Given the description of an element on the screen output the (x, y) to click on. 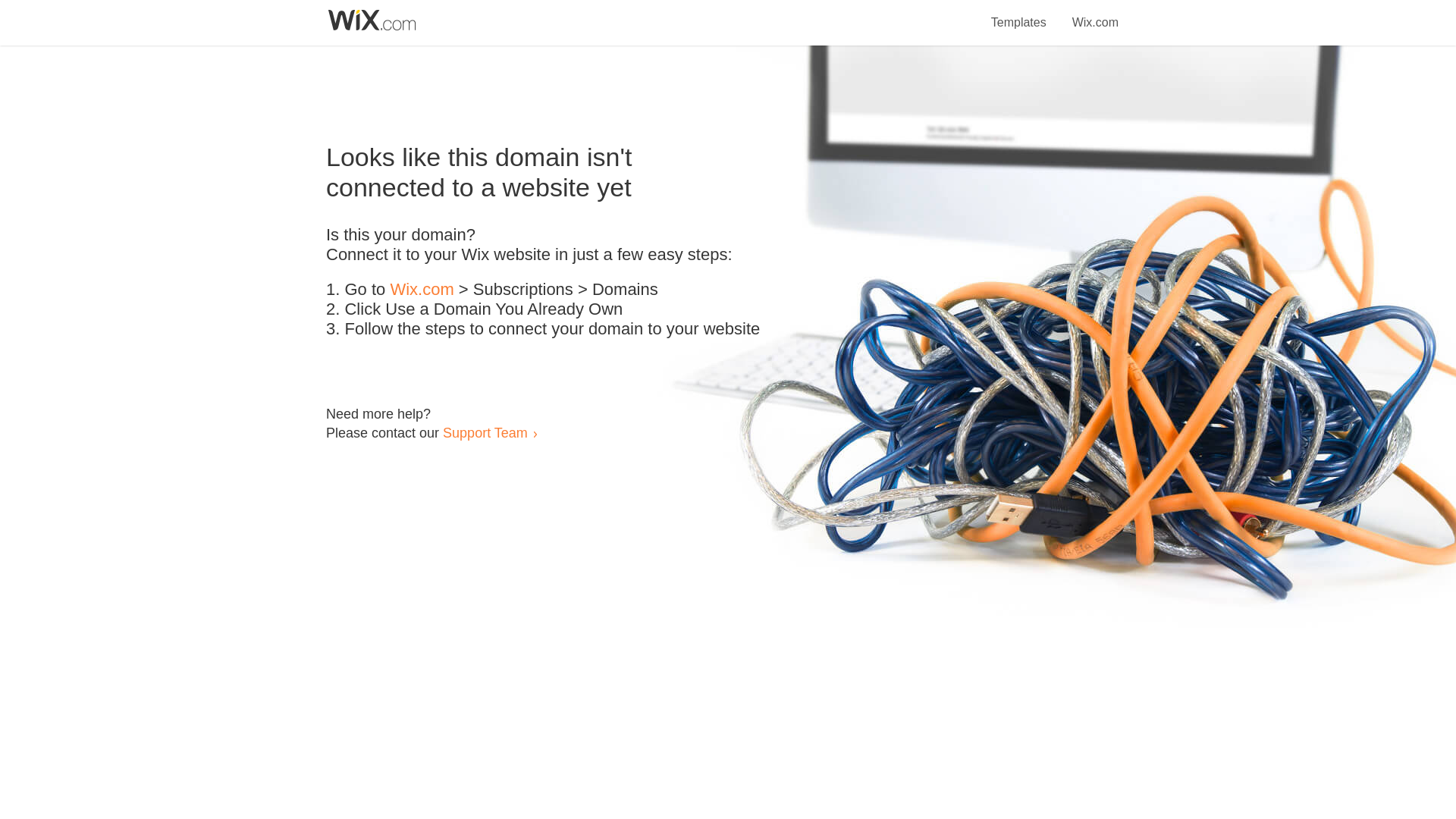
Templates (1018, 14)
Support Team (484, 432)
Wix.com (1095, 14)
Wix.com (421, 289)
